Given the description of an element on the screen output the (x, y) to click on. 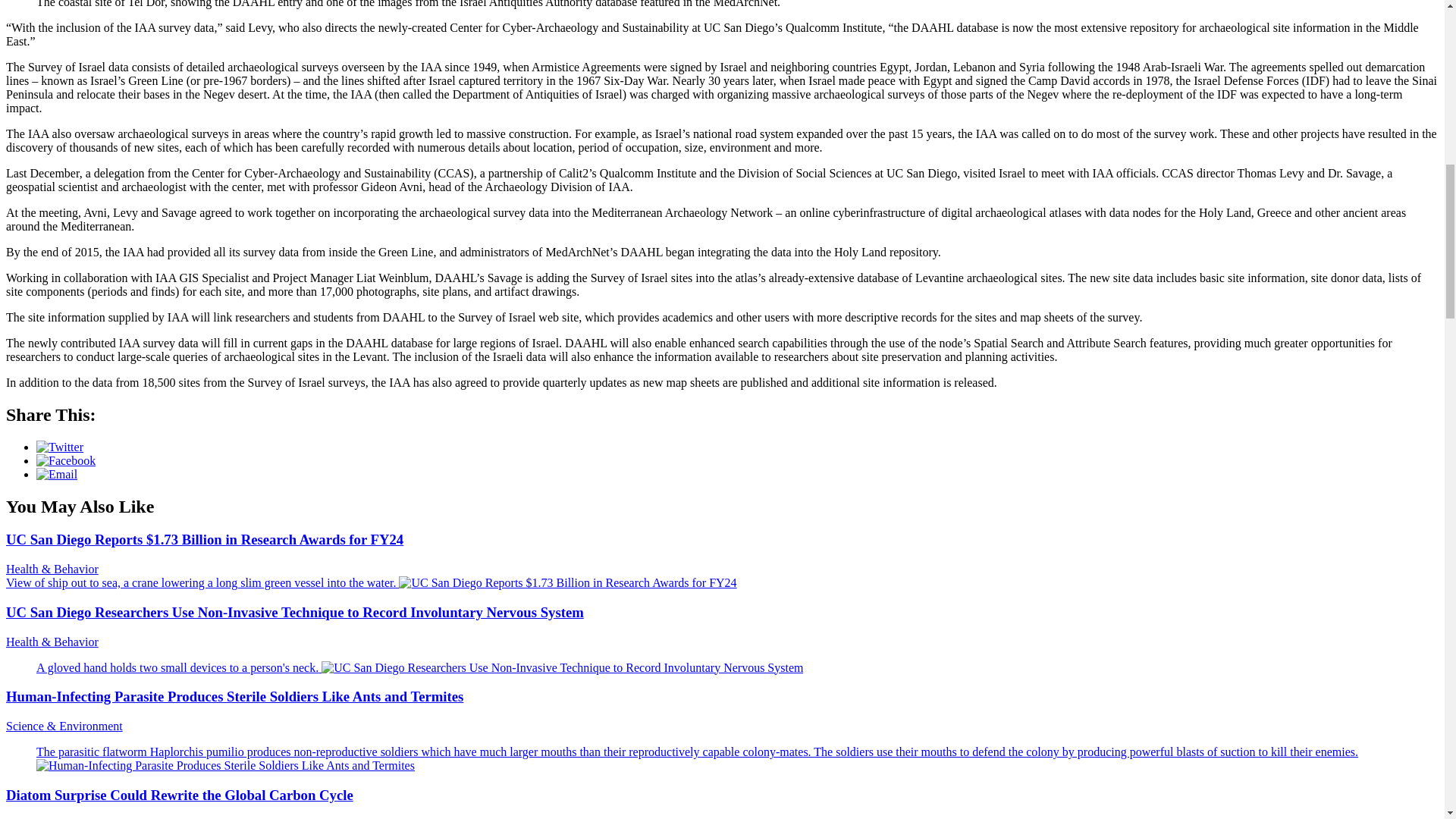
A gloved hand holds two small devices to a person's neck. (419, 667)
